Given the description of an element on the screen output the (x, y) to click on. 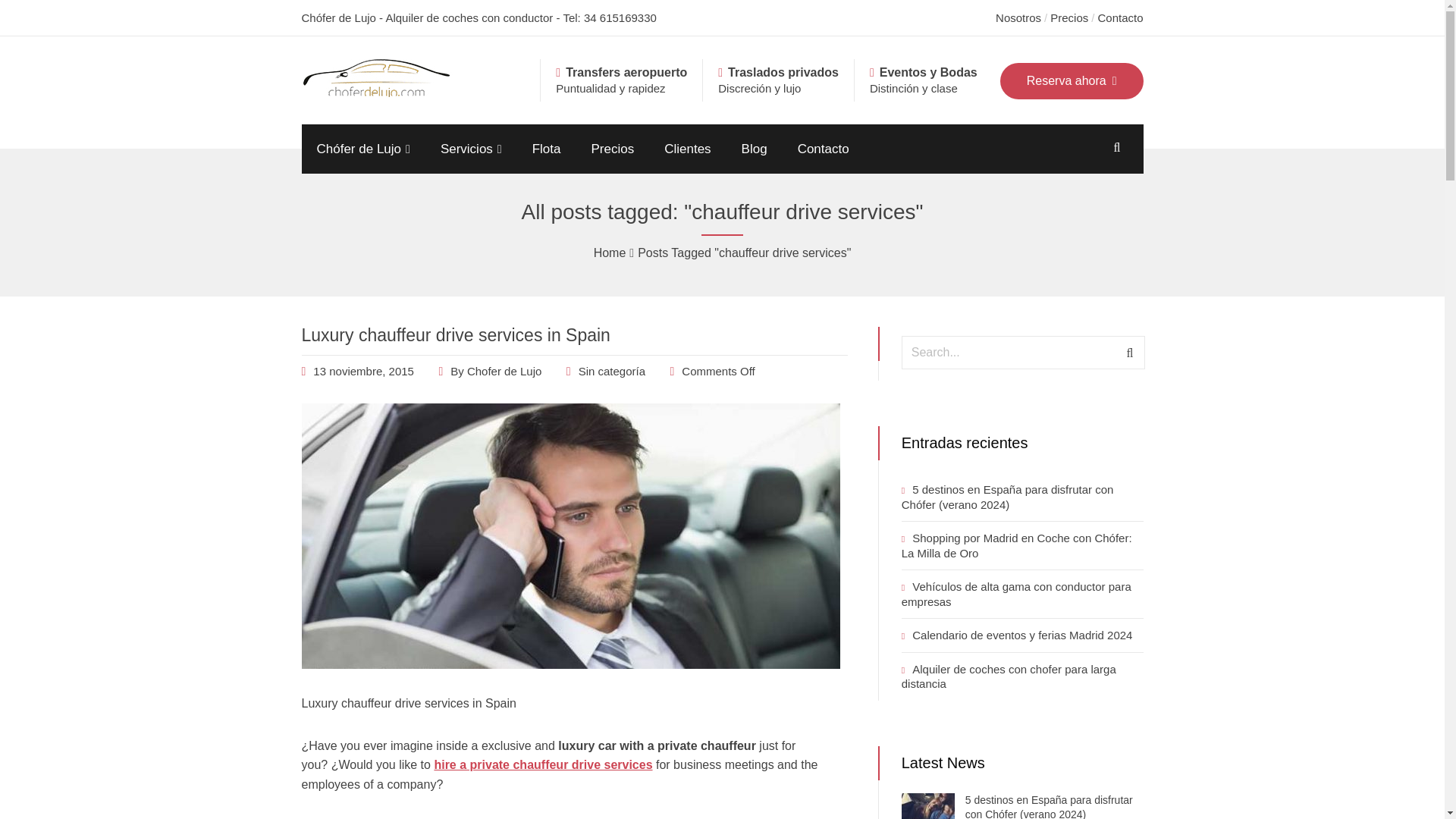
Luxury chauffeur drive services in Spain (455, 334)
Contacto (823, 148)
Blog (754, 148)
Precios (612, 148)
Clientes (687, 148)
Reserva ahora (1071, 81)
Luxury chauffeur drive services in Spain (570, 664)
Entradas de Chofer de Lujo (504, 370)
Luxury chauffeur drive services in Spain (363, 370)
Home (610, 252)
Precios (1068, 17)
Contacto (1119, 17)
Flota (546, 148)
Search... (1022, 352)
Nosotros (1018, 17)
